Given the description of an element on the screen output the (x, y) to click on. 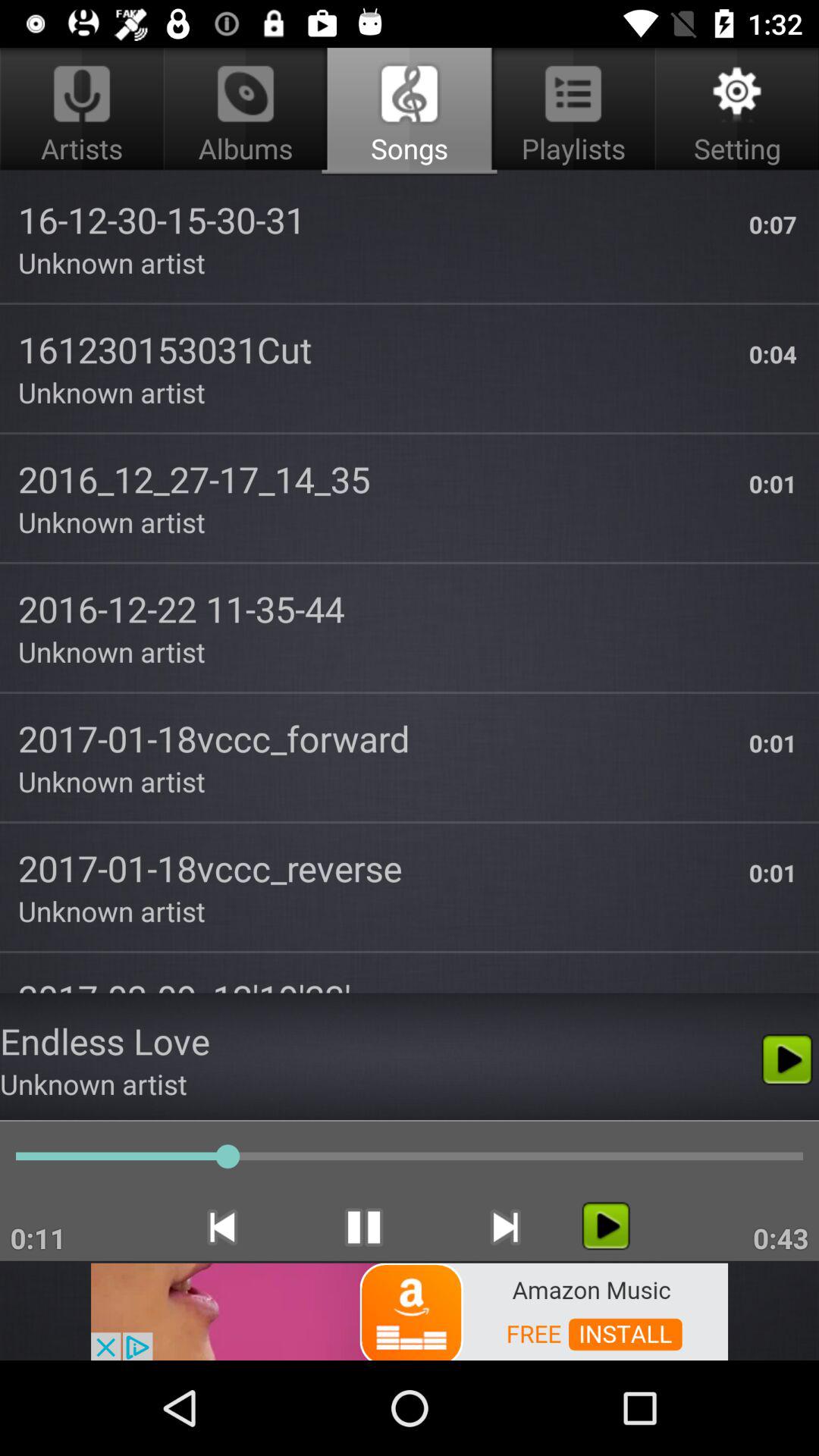
play any artist album or playlist on shuffle mode (605, 1225)
